Given the description of an element on the screen output the (x, y) to click on. 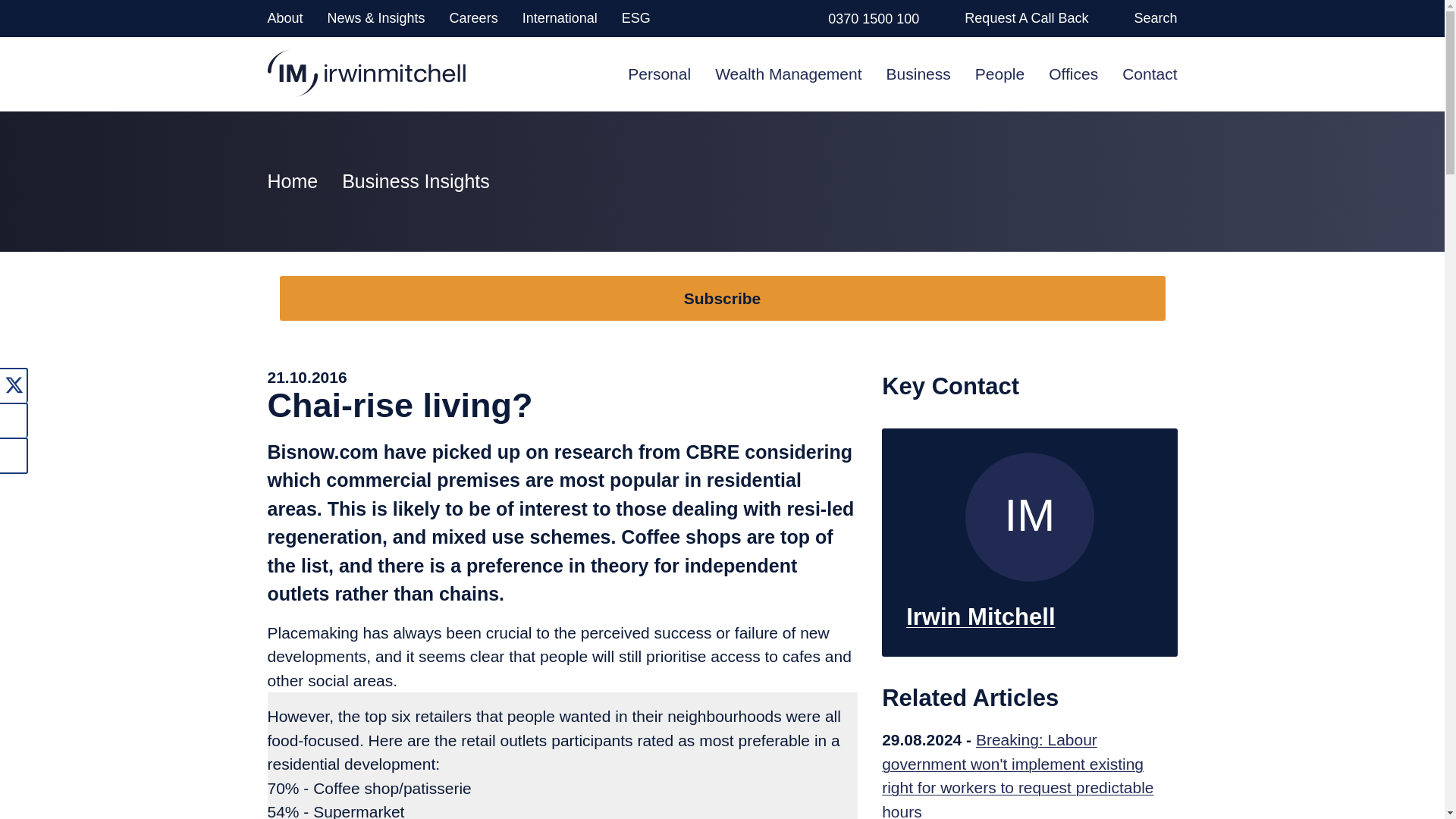
0370 1500 100 (873, 18)
International (559, 18)
Personal (658, 73)
About (284, 18)
Request A Call Back (1025, 18)
Careers (473, 18)
Search (1155, 18)
